Given the description of an element on the screen output the (x, y) to click on. 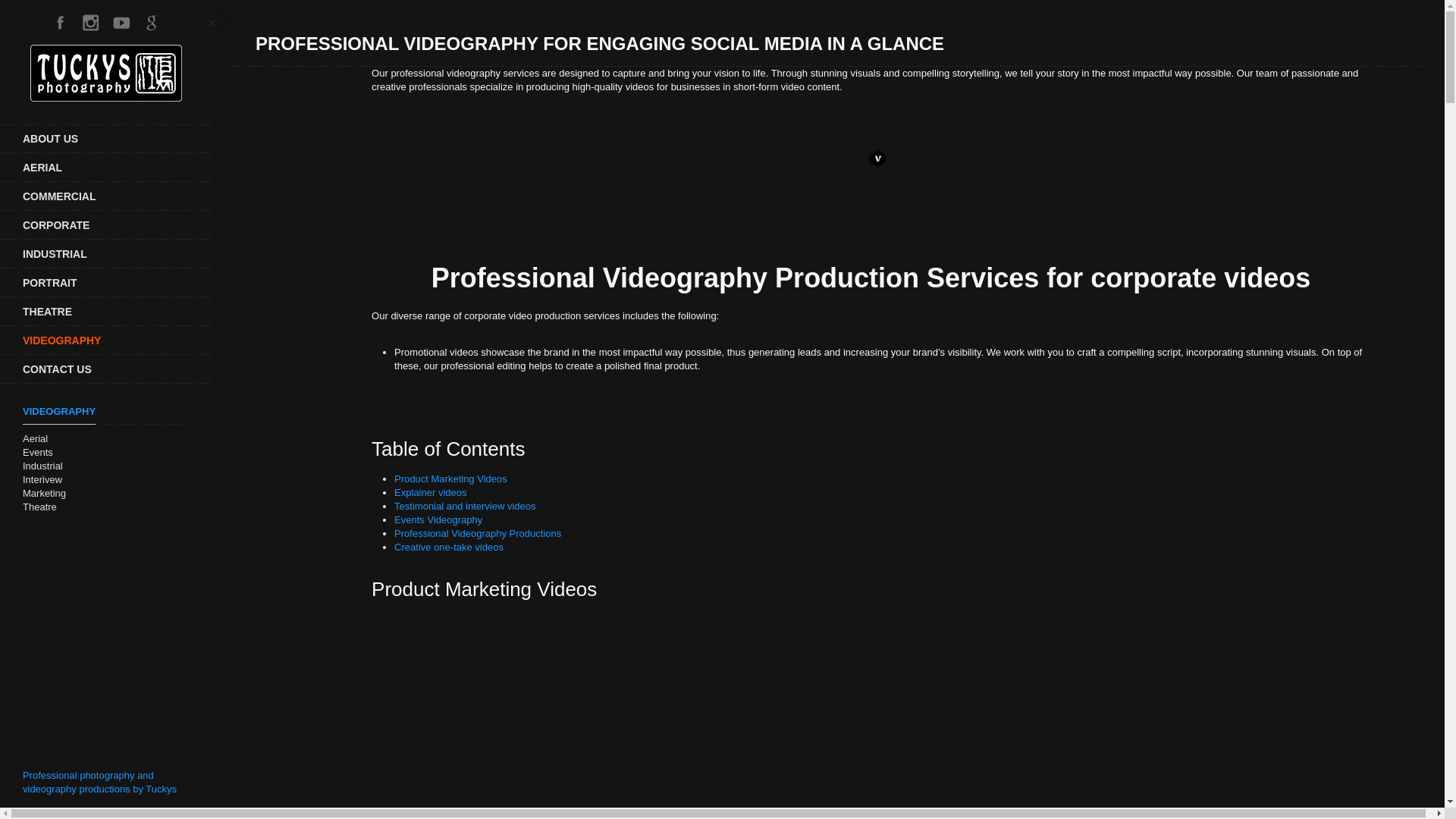
COMMERCIAL (106, 195)
Tuckys videos (121, 22)
CORPORATE (106, 224)
Events (37, 451)
INDUSTRIAL (106, 253)
CONTACT US (106, 369)
Theatre (39, 506)
ABOUT US (106, 138)
google page (151, 22)
Professional Photography and videography productions (106, 138)
